Given the description of an element on the screen output the (x, y) to click on. 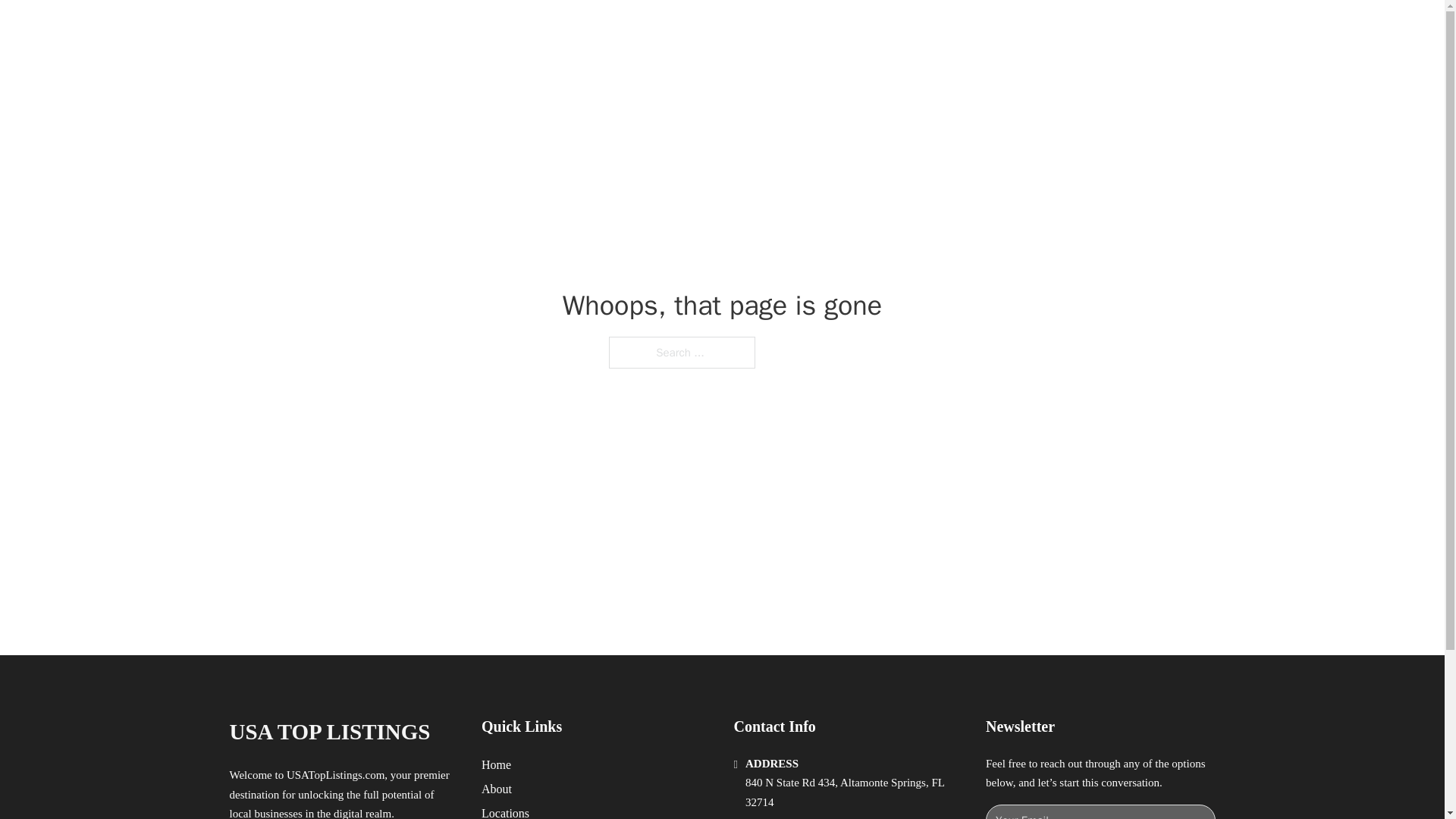
Home (496, 764)
USA TOP LISTINGS (403, 28)
Locations (505, 811)
About (496, 788)
USATopListings.com (335, 775)
HOME (907, 29)
LOCATIONS (978, 29)
USA TOP LISTINGS (328, 732)
